Given the description of an element on the screen output the (x, y) to click on. 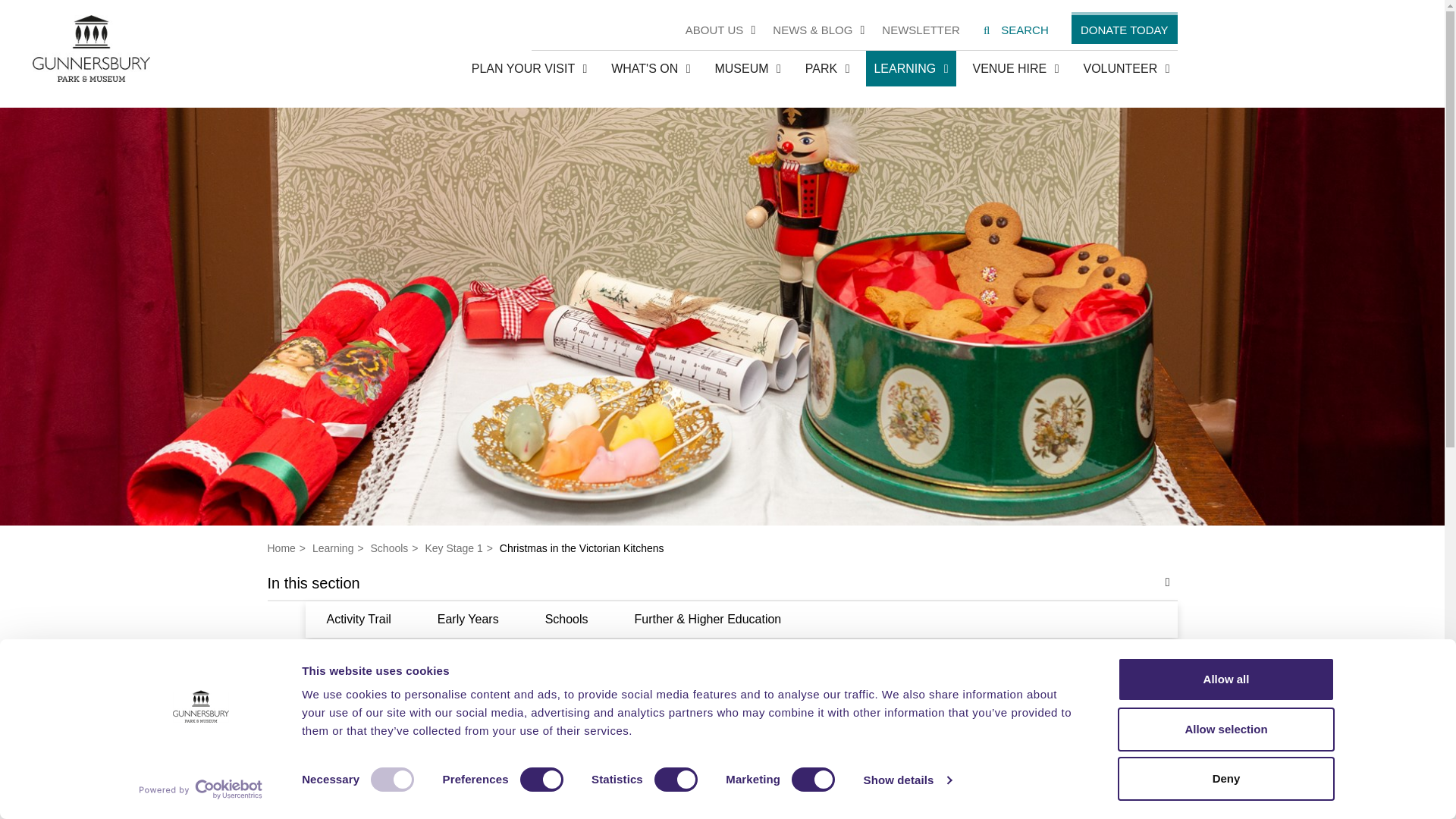
Show details (907, 780)
